Given the description of an element on the screen output the (x, y) to click on. 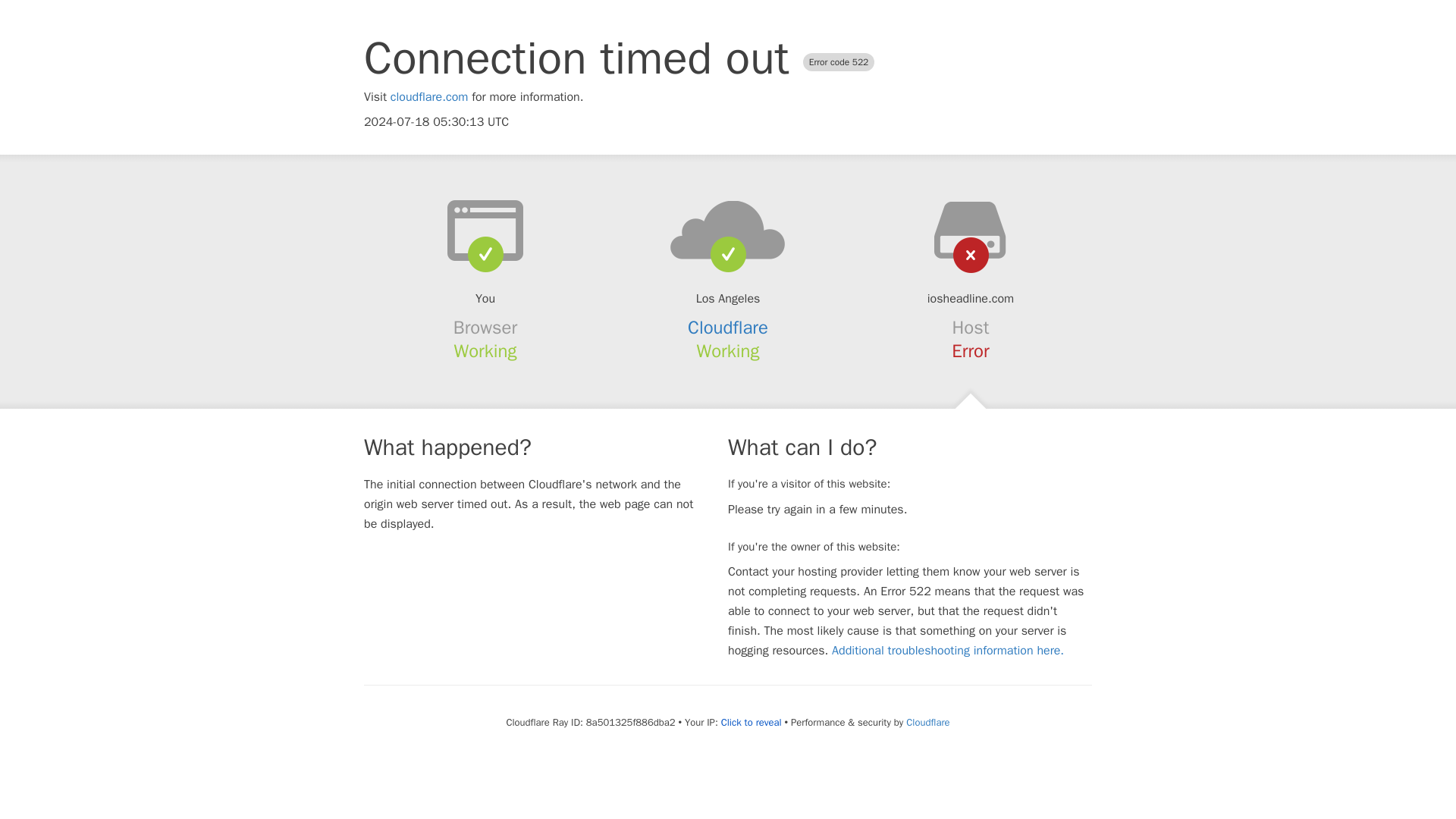
Click to reveal (750, 722)
cloudflare.com (429, 96)
Cloudflare (927, 721)
Additional troubleshooting information here. (947, 650)
Cloudflare (727, 327)
